Given the description of an element on the screen output the (x, y) to click on. 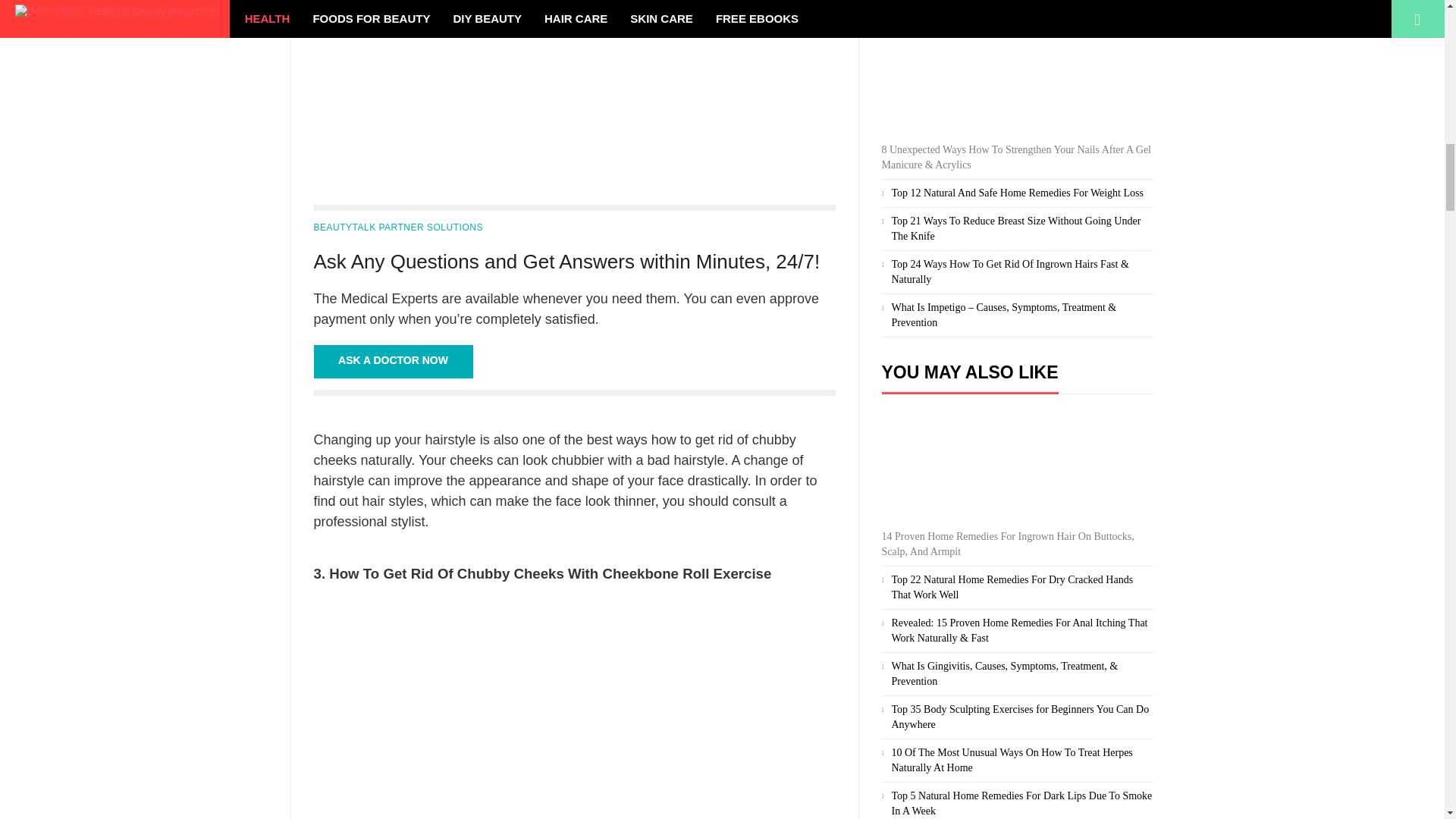
how to get rid of chubby cheeks - cheekbone roll exercise (574, 708)
ASK A DOCTOR NOW (393, 361)
how to get rid of chubby cheeks - choose the right hairstyle (574, 85)
